Given the description of an element on the screen output the (x, y) to click on. 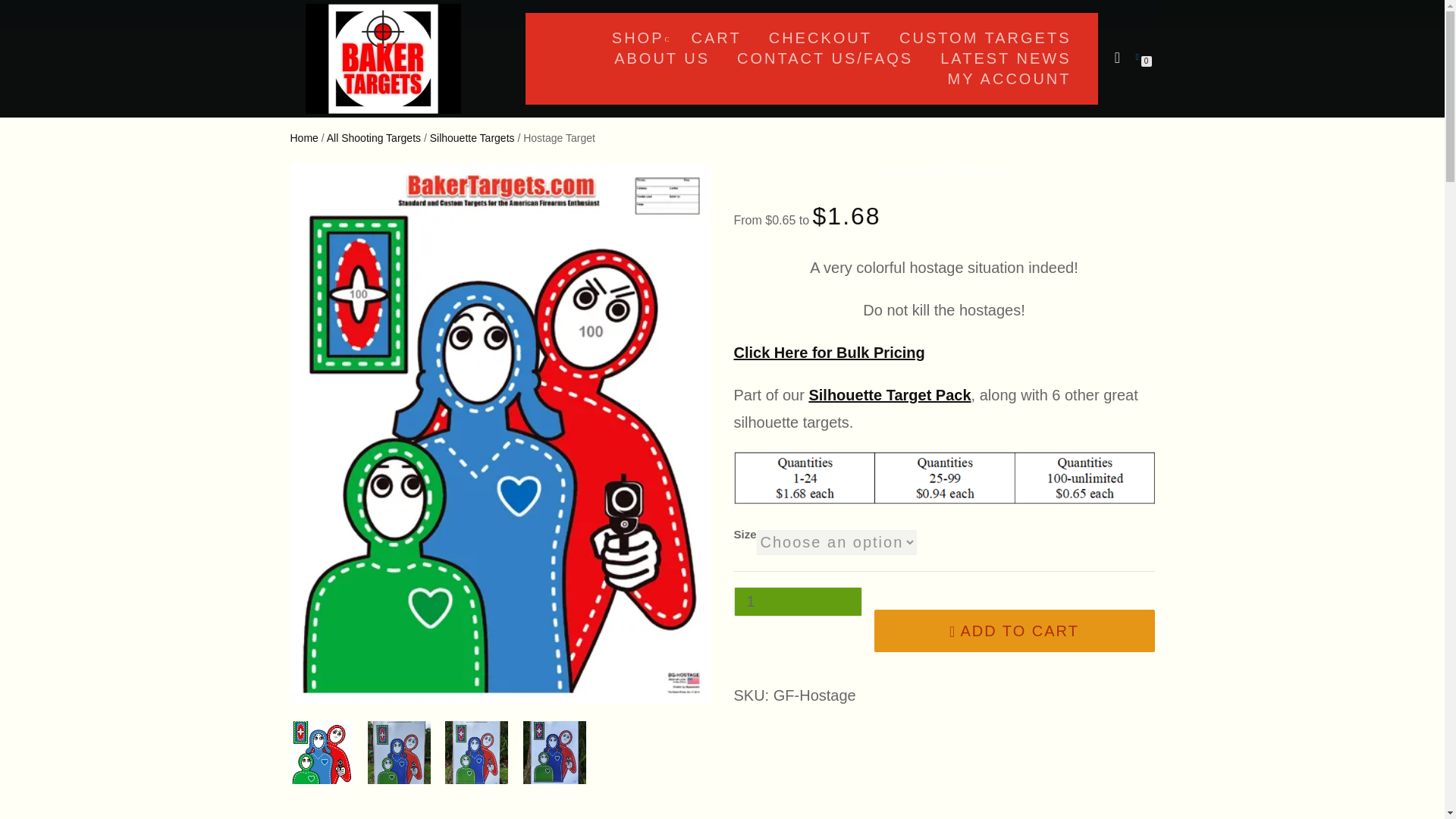
1 (798, 601)
View your shopping cart (1139, 55)
0 (1139, 55)
LATEST NEWS (1004, 57)
CHECKOUT (820, 37)
All Shooting Targets (373, 137)
pricing table full color (943, 477)
ABOUT US (661, 57)
SHOP (637, 37)
CART (715, 37)
MY ACCOUNT (1009, 78)
CUSTOM TARGETS (984, 37)
Home (303, 137)
Silhouette Targets (472, 137)
